Given the description of an element on the screen output the (x, y) to click on. 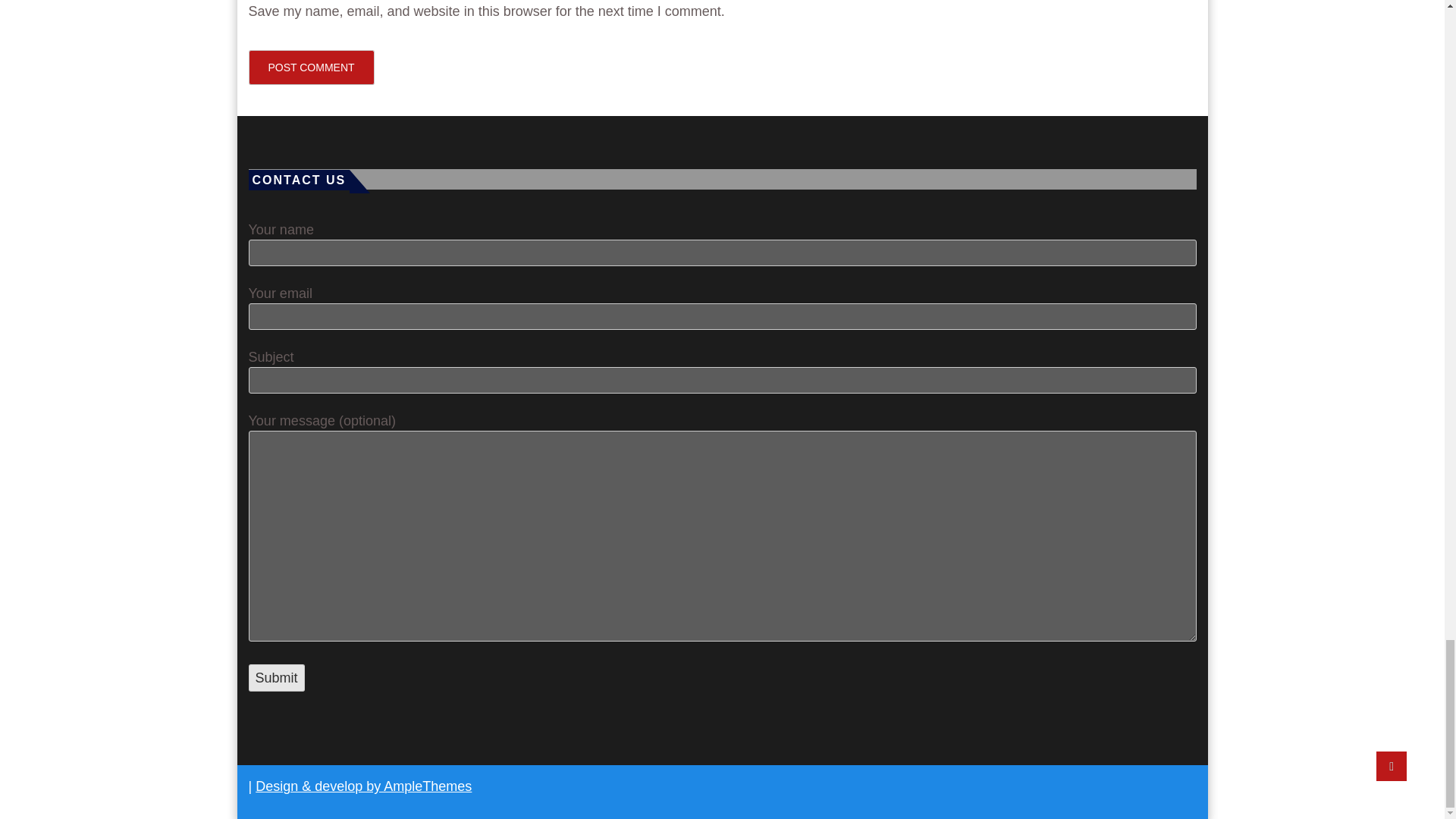
Post Comment (311, 67)
Submit (276, 677)
